Given the description of an element on the screen output the (x, y) to click on. 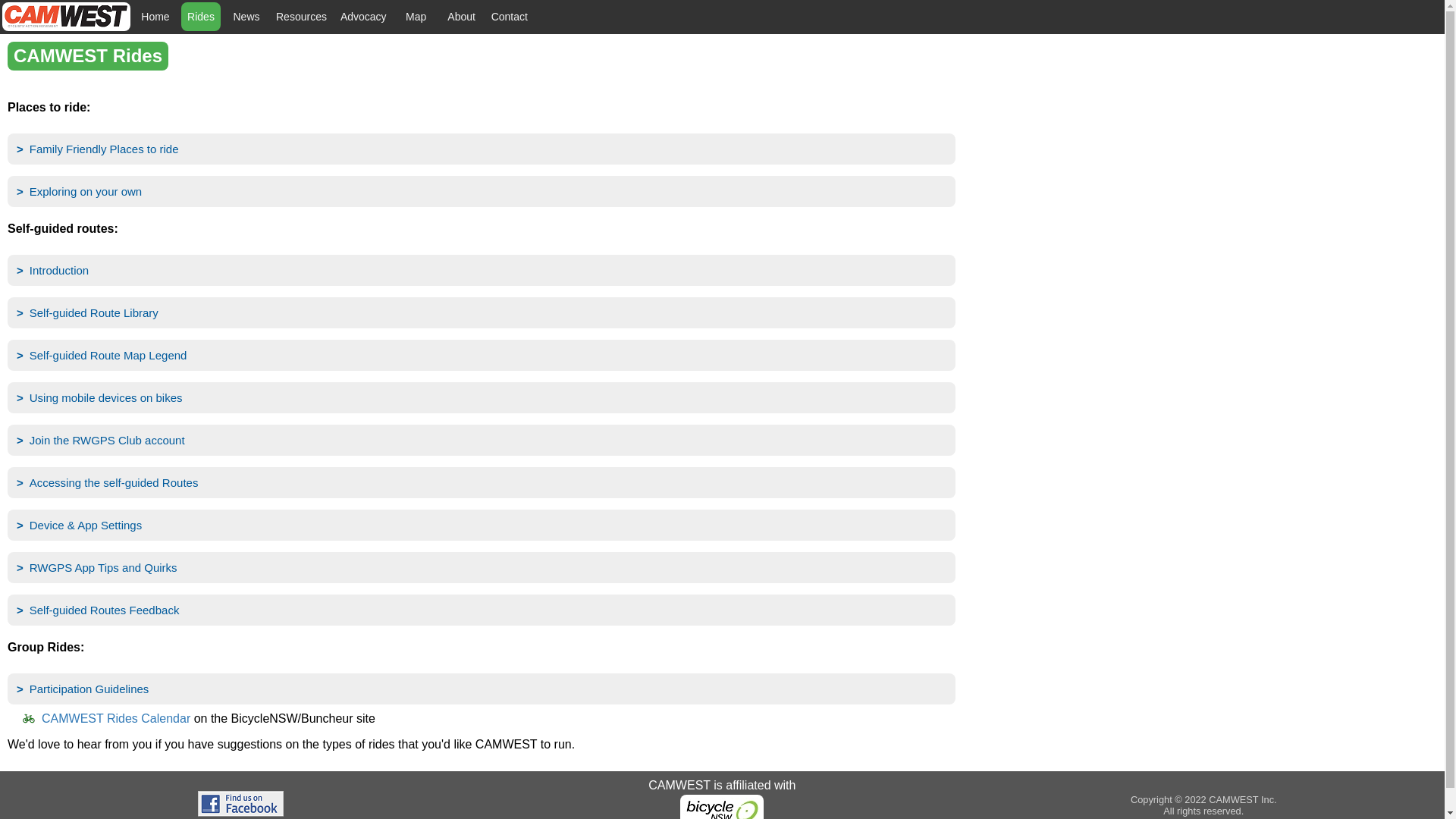
Self-guided Routes Feedback Element type: text (481, 609)
Resources Element type: text (301, 16)
Rides Element type: text (200, 16)
News Element type: text (246, 16)
Participation Guidelines Element type: text (481, 688)
Accessing the self-guided Routes Element type: text (481, 482)
Introduction Element type: text (481, 269)
Device & App Settings Element type: text (481, 524)
About Element type: text (461, 16)
Self-guided Route Map Legend Element type: text (481, 354)
Family Friendly Places to ride Element type: text (481, 148)
Join the RWGPS Club account Element type: text (481, 439)
CAMWEST Rides Calendar Element type: text (115, 718)
Home Element type: text (155, 16)
RWGPS App Tips and Quirks Element type: text (481, 567)
Using mobile devices on bikes Element type: text (481, 397)
Exploring on your own Element type: text (481, 191)
Self-guided Route Library Element type: text (481, 312)
Map Element type: text (416, 16)
Advocacy Element type: text (363, 16)
Contact Element type: text (509, 16)
